Given the description of an element on the screen output the (x, y) to click on. 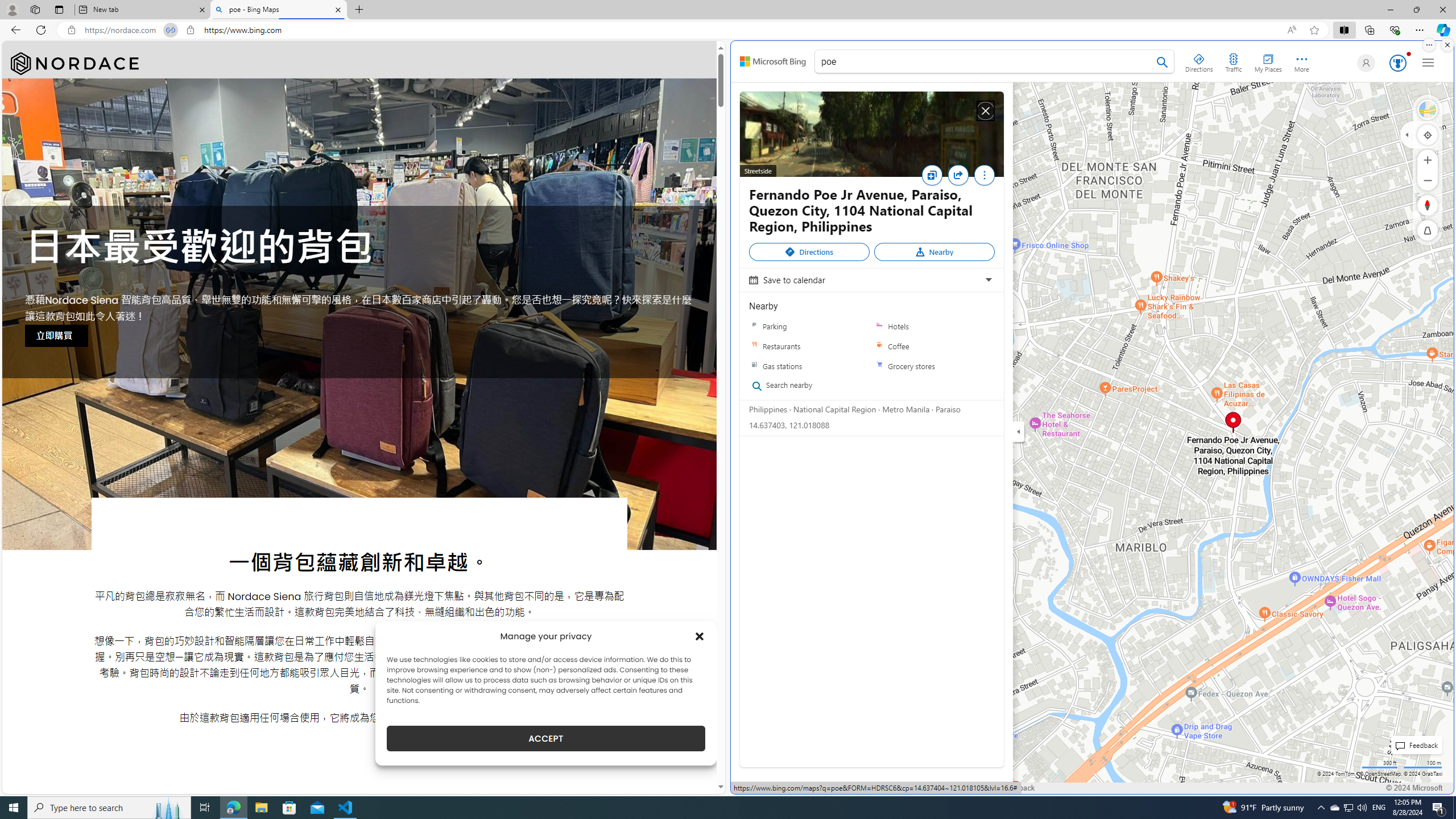
Legal (833, 787)
Feedback (1018, 787)
Tab actions menu (58, 9)
Browser essentials (1394, 29)
Zoom Out (1427, 180)
Restaurants (754, 346)
Search Bing Maps (1162, 61)
Philippines (767, 408)
Satellite (1427, 109)
Directions (1199, 60)
App bar (728, 29)
Share (960, 178)
Reset to Default Pitch (1427, 230)
Parking (754, 326)
